Given the description of an element on the screen output the (x, y) to click on. 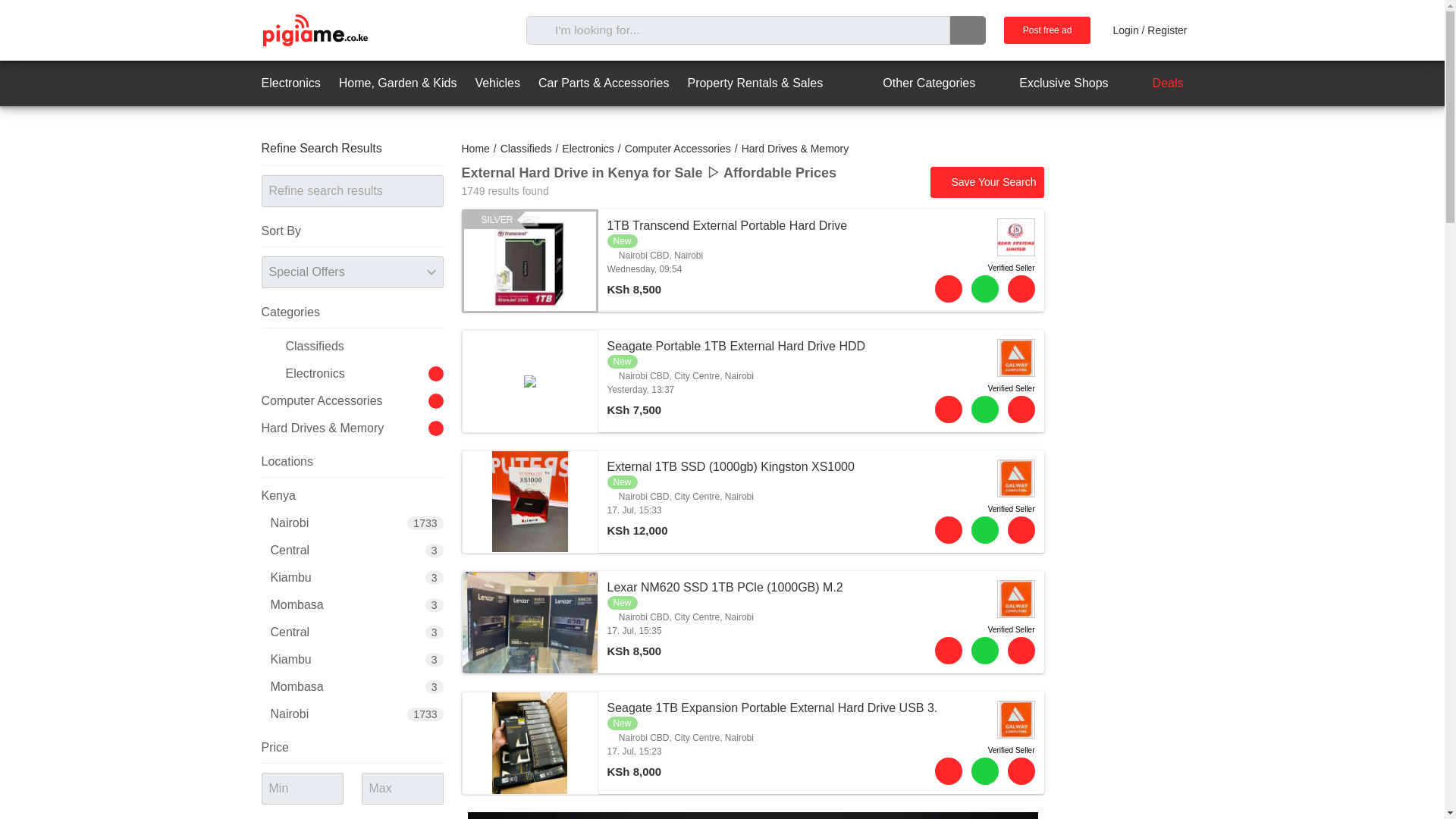
Other Categories (915, 83)
Computer Accessories (677, 148)
Electronics (290, 83)
Home (475, 148)
Electronics (587, 148)
Exclusive Shops (1050, 83)
Vehicles (497, 83)
PigiaMe (314, 29)
